Given the description of an element on the screen output the (x, y) to click on. 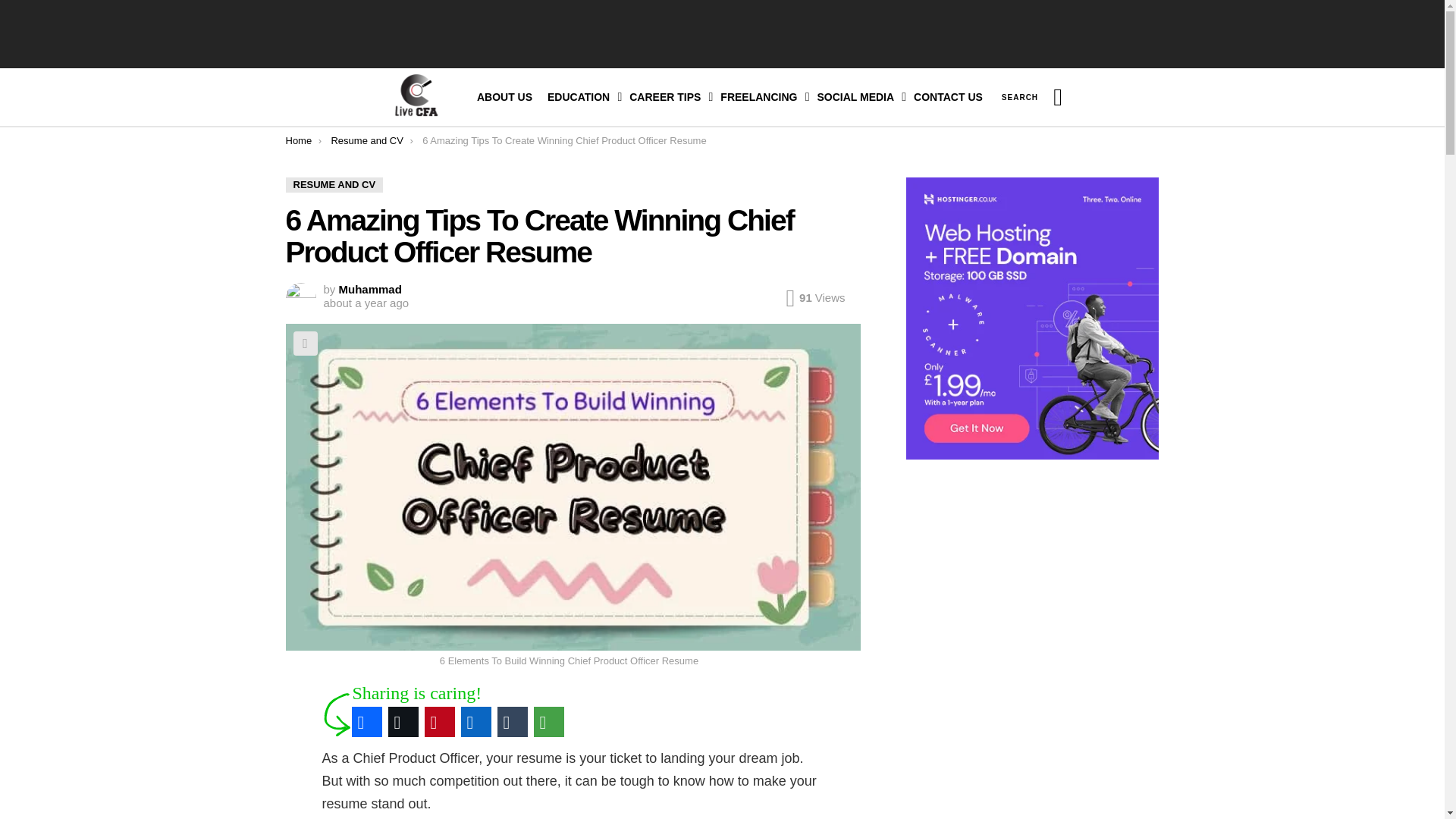
EDUCATION (580, 96)
ABOUT US (504, 96)
SOCIAL MEDIA (857, 96)
Follow us (1057, 96)
Advertisement (721, 33)
Facebook (367, 721)
FREELANCING (761, 96)
Posts by Muhammad (370, 288)
CONTACT US (947, 96)
SEARCH (1019, 96)
CAREER TIPS (667, 96)
Pinterest (440, 721)
July 13, 2023, 7:37 pm (366, 303)
FOLLOW US (1057, 96)
